Given the description of an element on the screen output the (x, y) to click on. 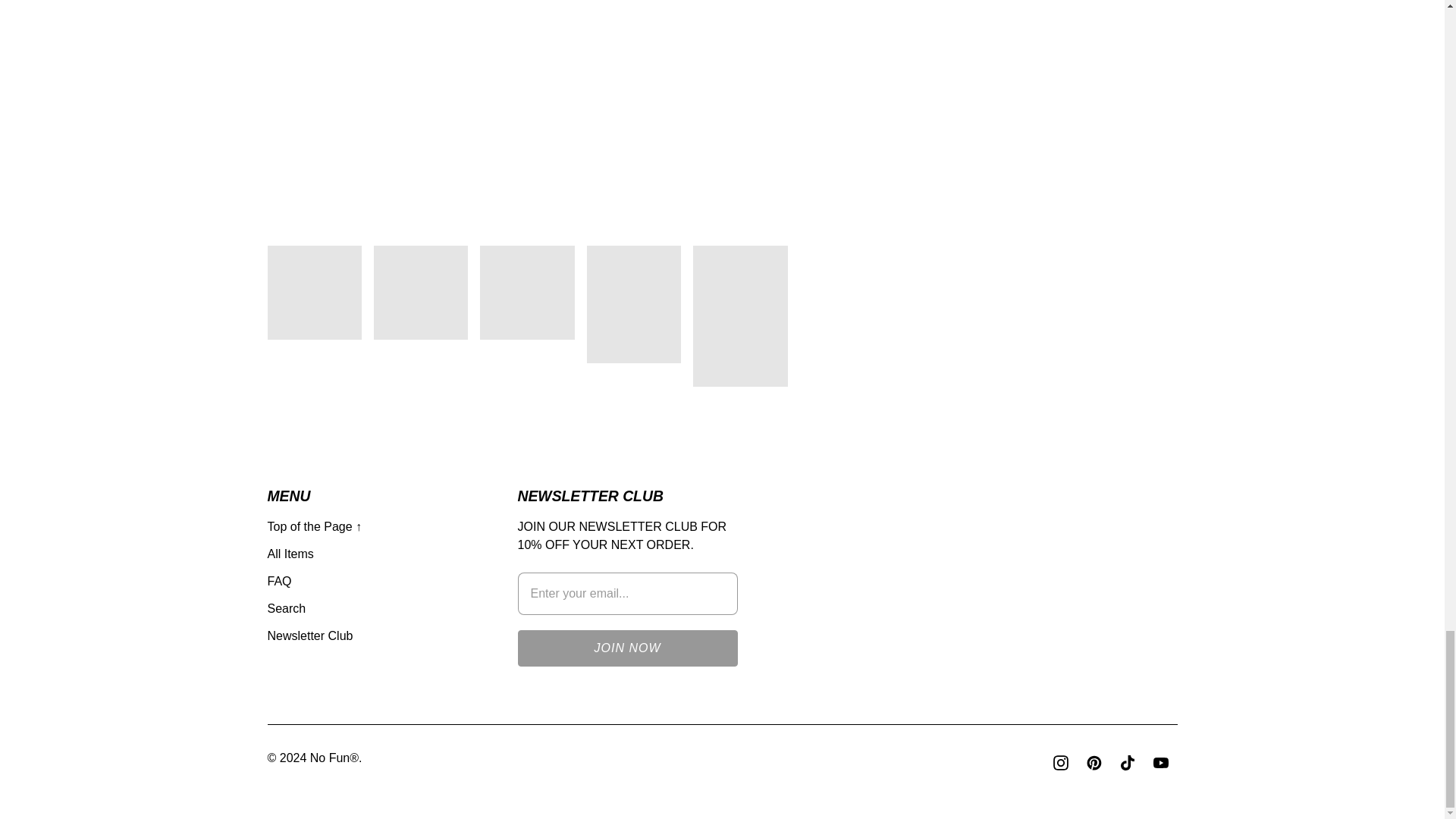
Join now (626, 647)
